Given the description of an element on the screen output the (x, y) to click on. 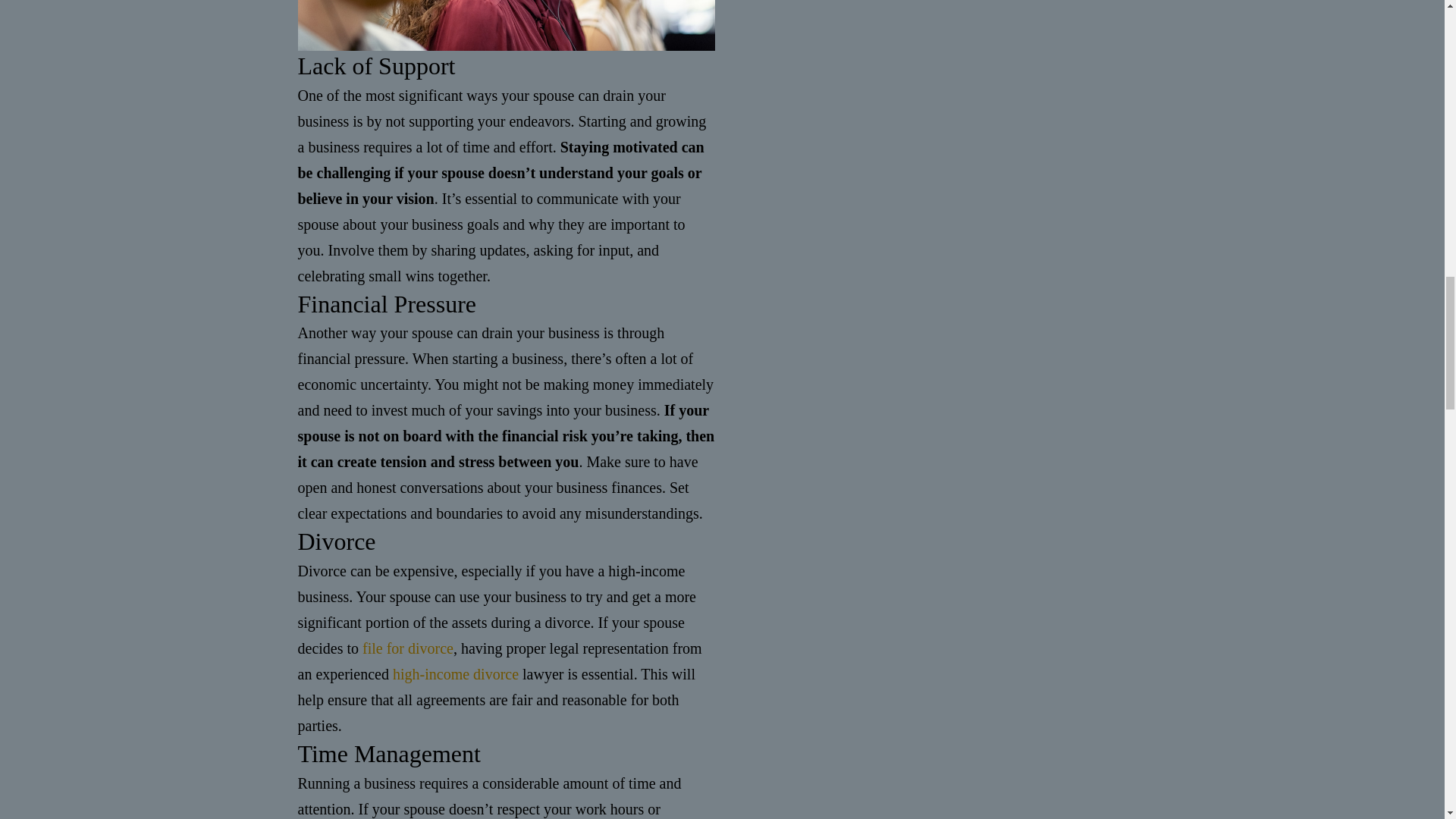
file for divorce (407, 647)
Business support (505, 25)
high-income divorce (455, 673)
